Given the description of an element on the screen output the (x, y) to click on. 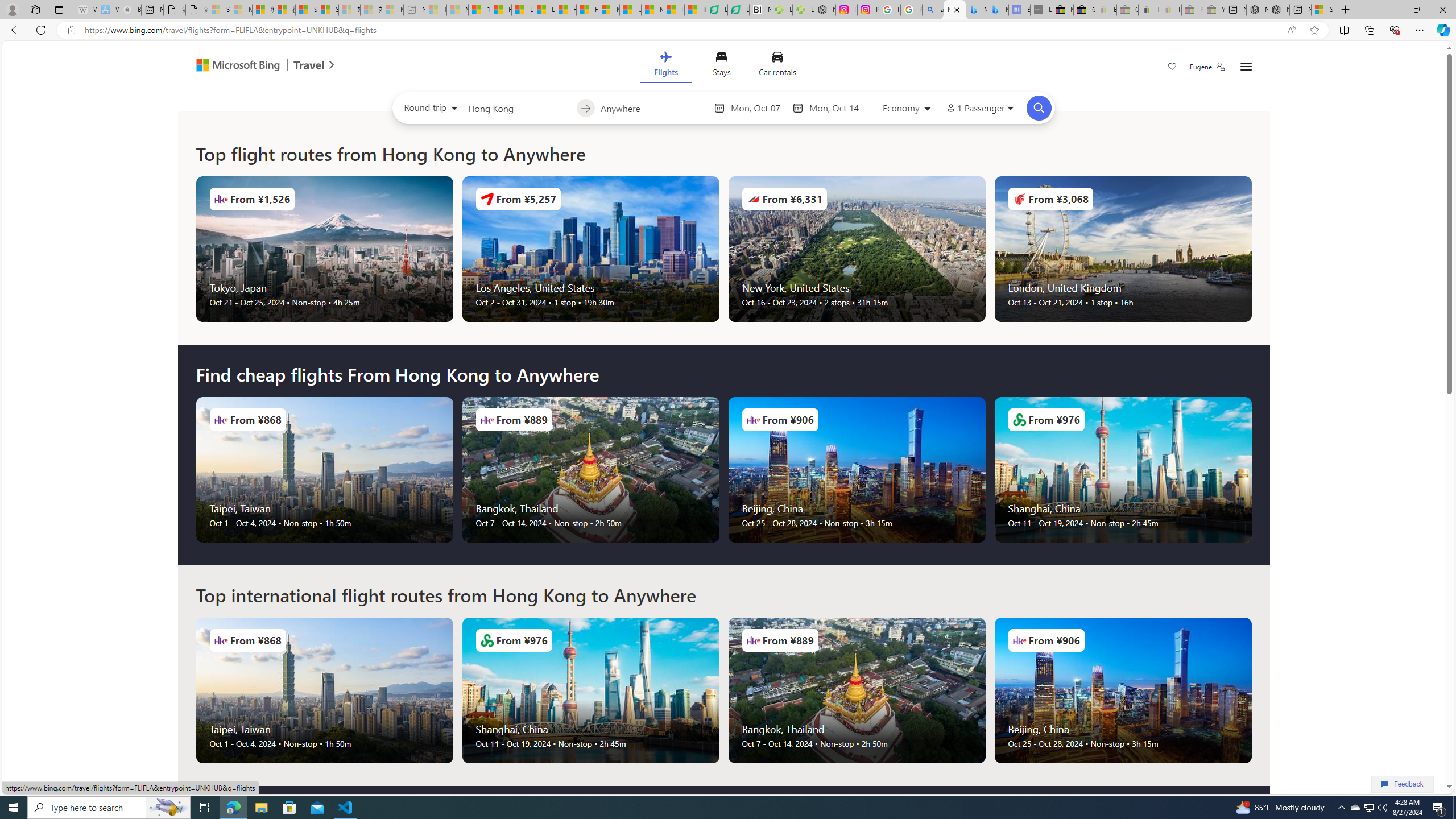
Class: trvl-hub-header nofilter (723, 65)
Nordace - Summer Adventures 2024 (1278, 9)
alabama high school quarterback dies - Search (933, 9)
Class: msft-travel-logo (308, 64)
Sign in to your Microsoft account - Sleeping (218, 9)
